Given the description of an element on the screen output the (x, y) to click on. 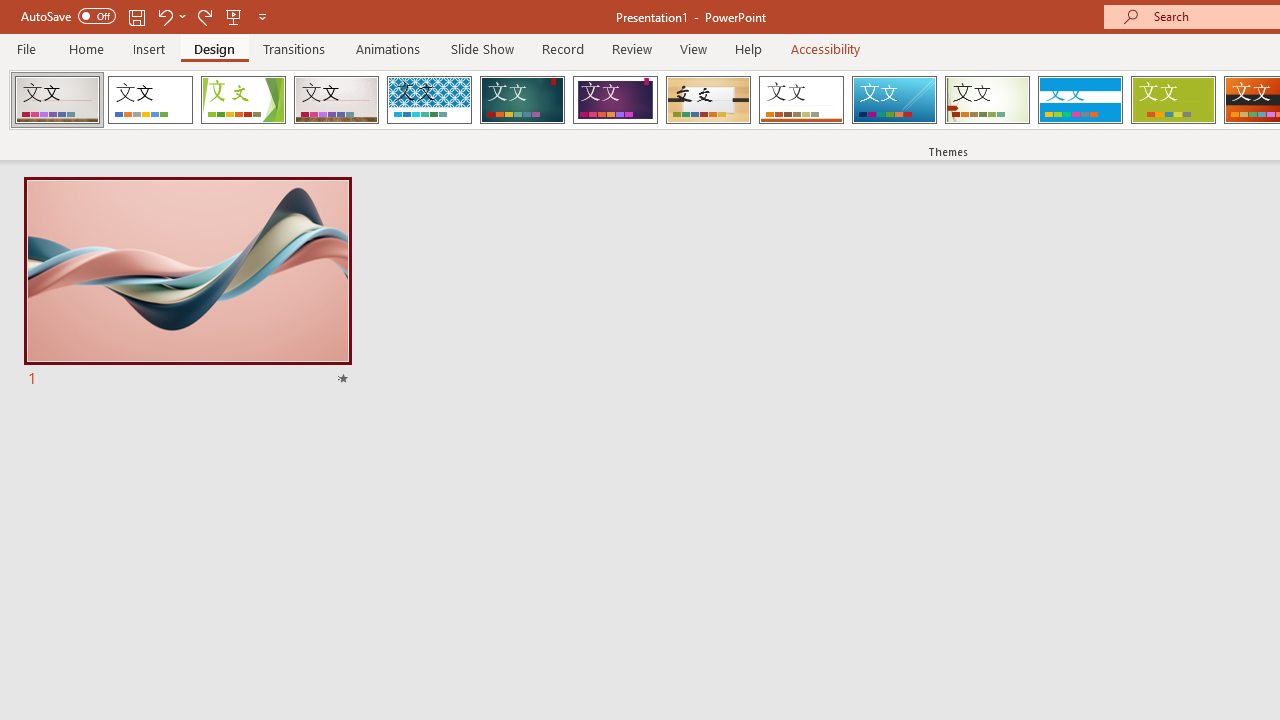
Gallery (336, 100)
Office Theme (150, 100)
Retrospect (801, 100)
Banded (1080, 100)
Organic (708, 100)
